Given the description of an element on the screen output the (x, y) to click on. 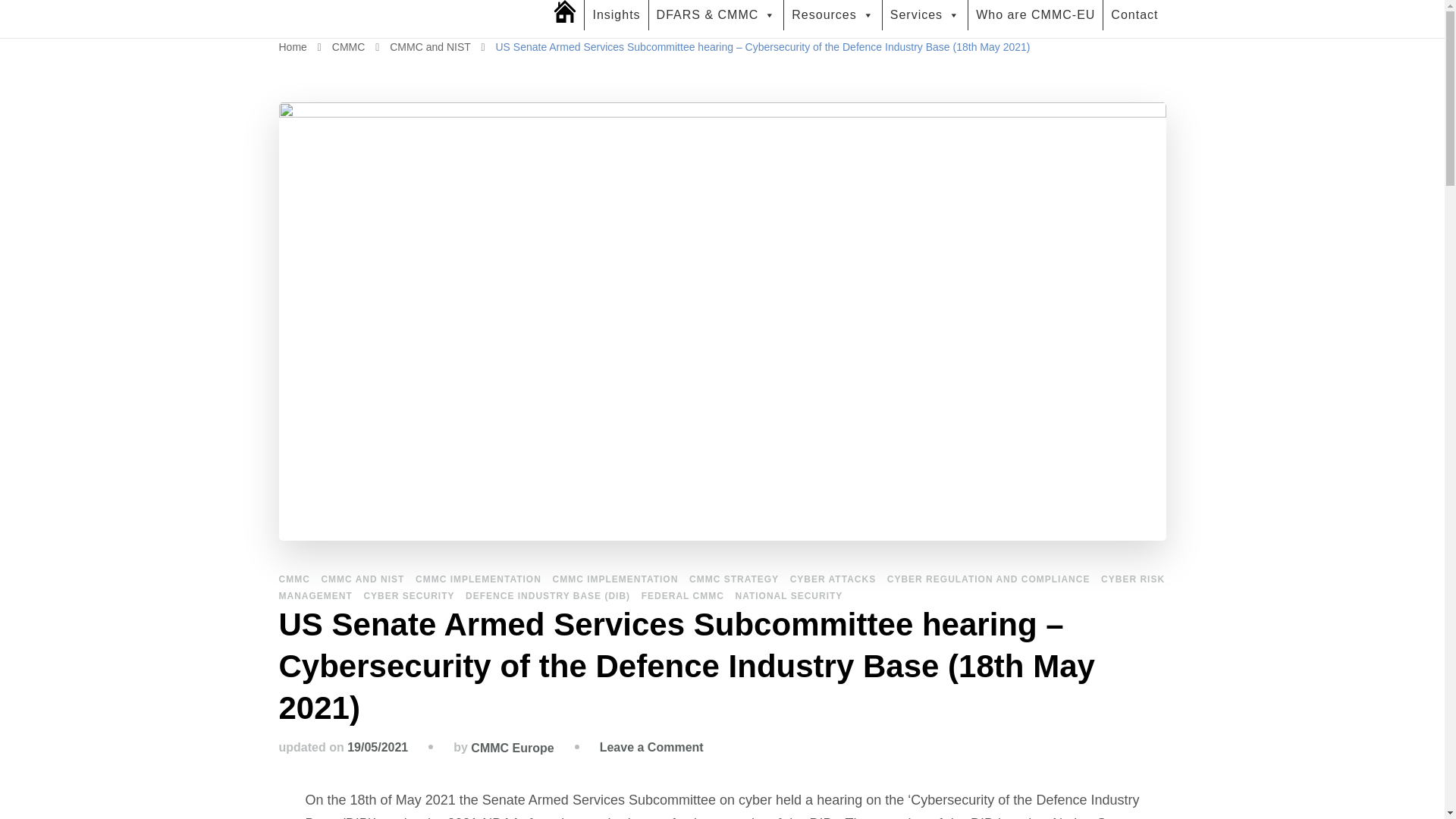
CMMC IMPLEMENTATION (614, 579)
CMMC Europe (393, 35)
CMMC STRATEGY (733, 579)
CMMC (349, 46)
Insights (616, 15)
CMMC AND NIST (362, 579)
CMMC and NIST (431, 46)
Contact (1134, 15)
CYBER REGULATION AND COMPLIANCE (988, 579)
Services (925, 15)
